Given the description of an element on the screen output the (x, y) to click on. 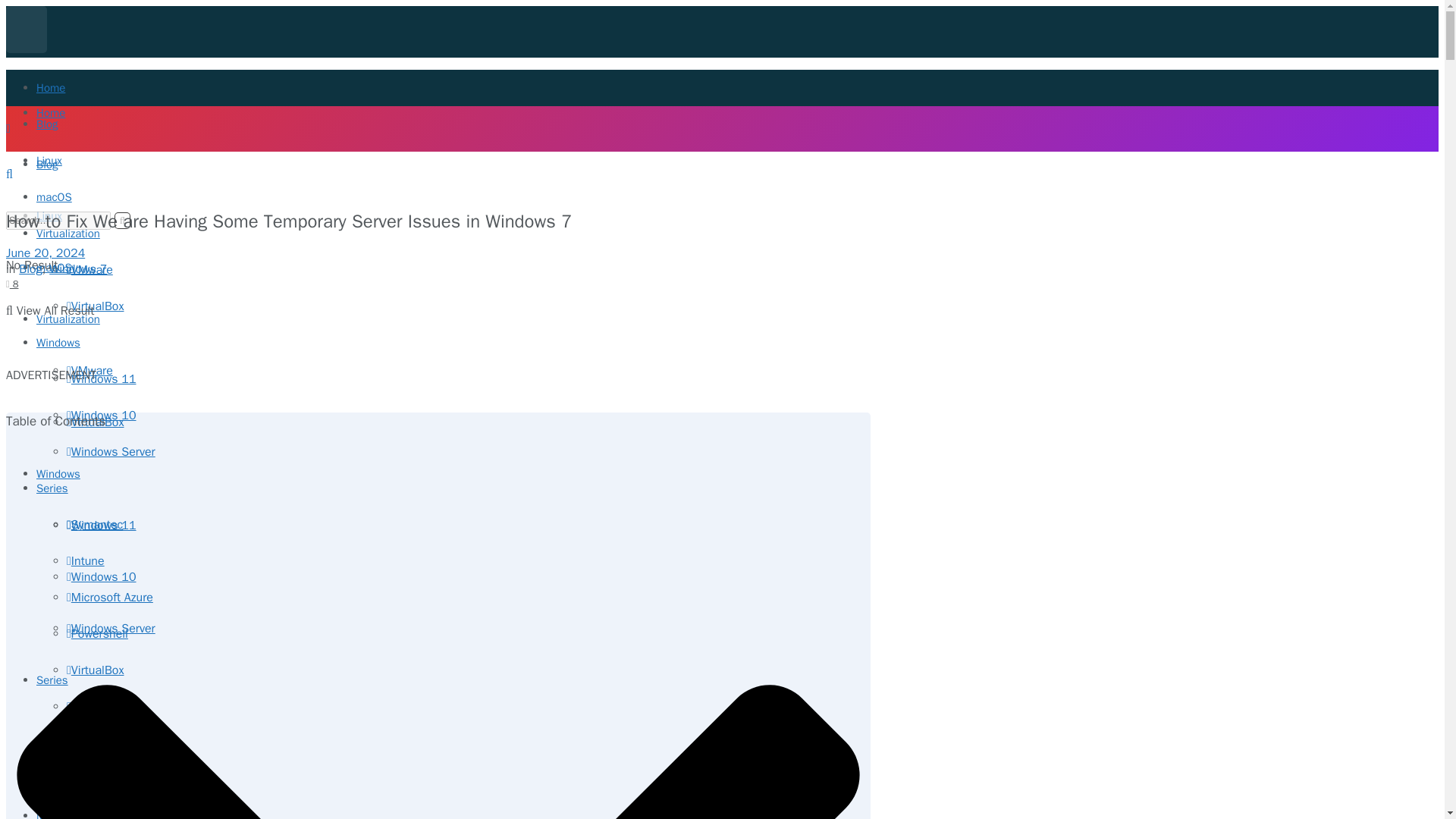
Virtualization (68, 318)
Windows (58, 473)
Linux (49, 215)
VMware (89, 370)
Symantec (94, 731)
macOS (53, 196)
Windows (58, 342)
Symantec (94, 524)
VirtualBox (94, 305)
VMware (89, 269)
